Given the description of an element on the screen output the (x, y) to click on. 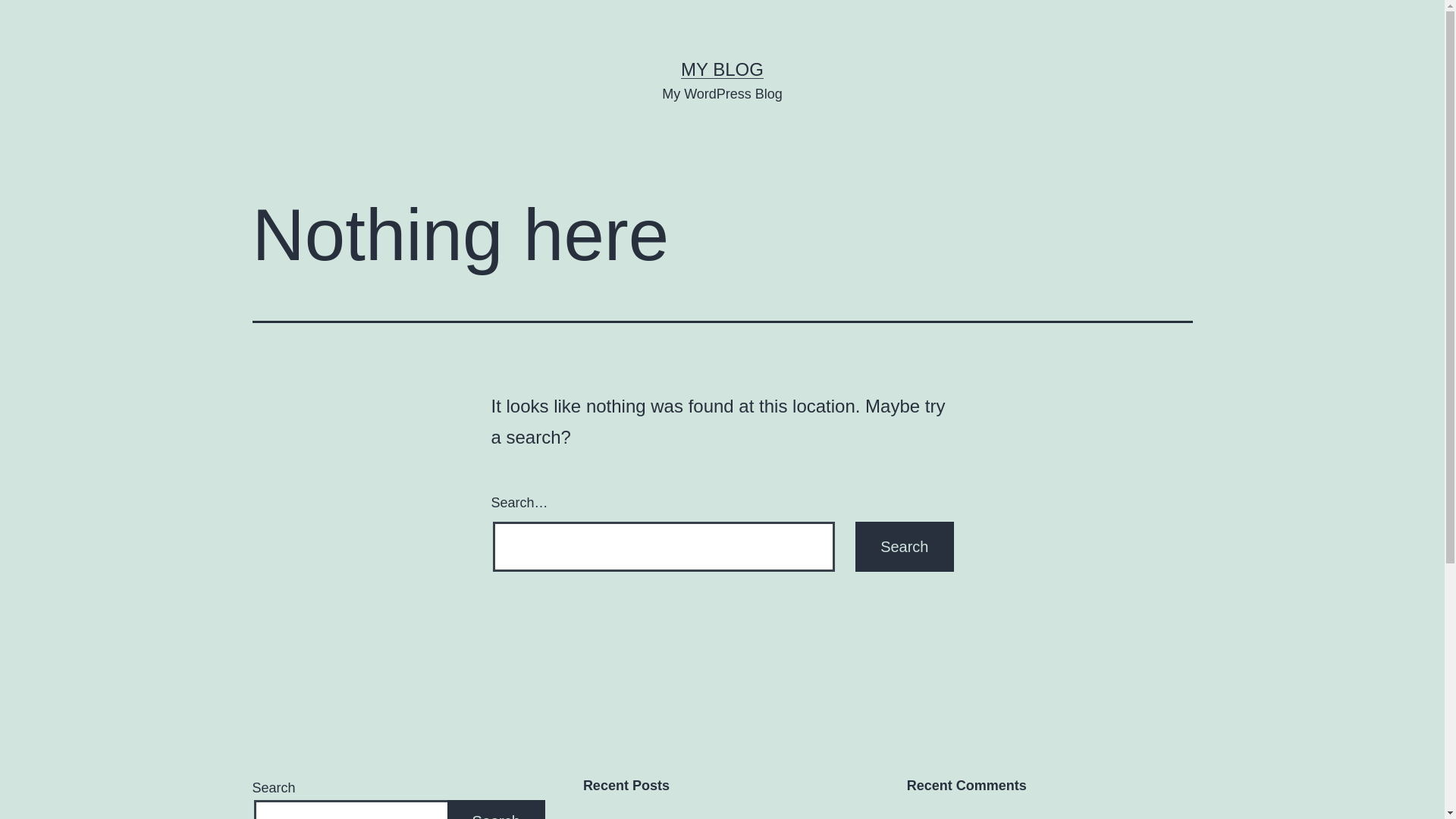
MY BLOG Element type: text (721, 69)
Search Element type: text (904, 546)
